Given the description of an element on the screen output the (x, y) to click on. 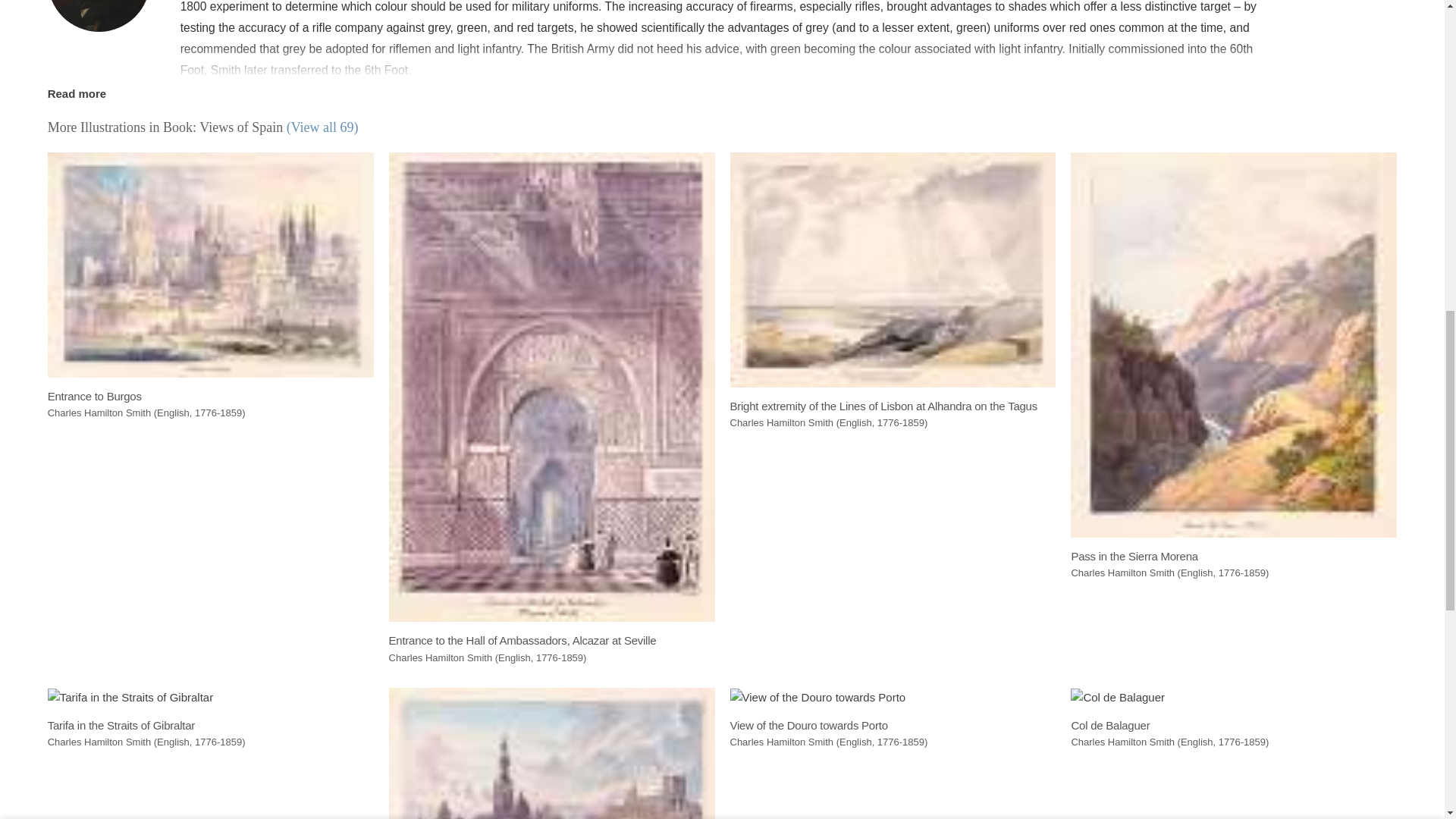
Charles Hamilton Smith (98, 15)
